Given the description of an element on the screen output the (x, y) to click on. 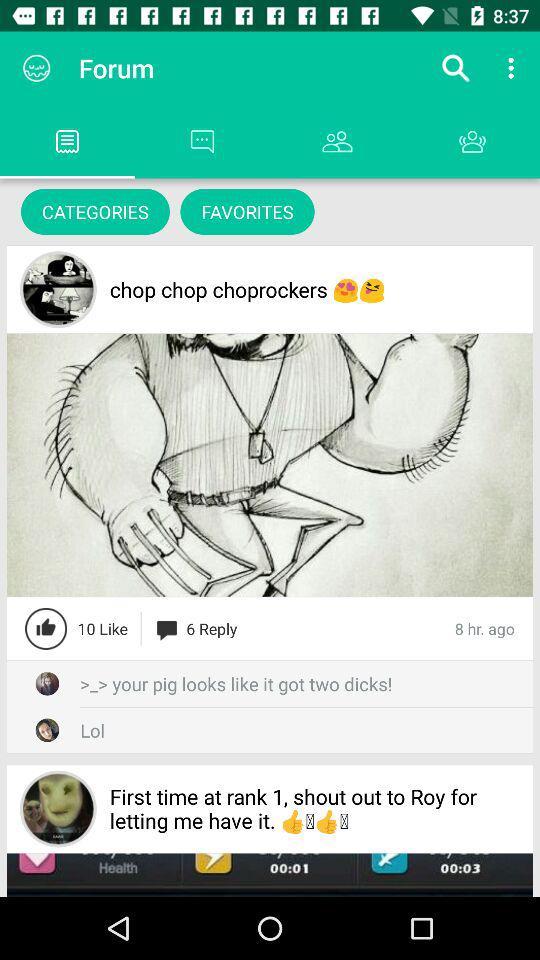
jump until the categories item (95, 211)
